Given the description of an element on the screen output the (x, y) to click on. 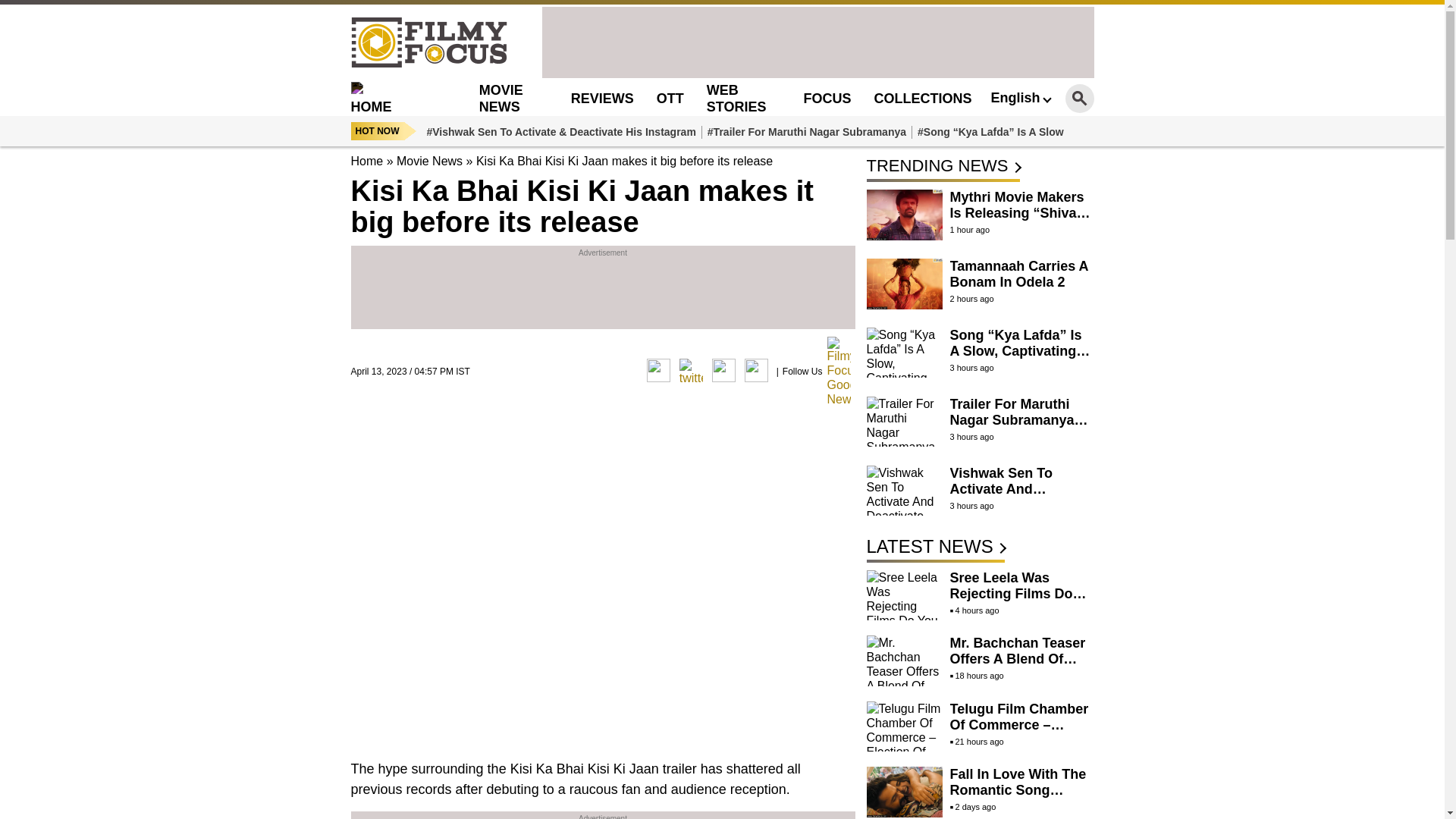
English (1019, 97)
COLLECTIONS (922, 98)
Web Stories (736, 97)
FOCUS (827, 98)
OTT (670, 98)
Home (395, 97)
OTT (670, 98)
FaceBook (657, 369)
Collections (922, 98)
Reviews (601, 98)
WEB STORIES (736, 97)
Home (366, 160)
Movie News (429, 160)
Movie News (500, 97)
Twitter (691, 369)
